Given the description of an element on the screen output the (x, y) to click on. 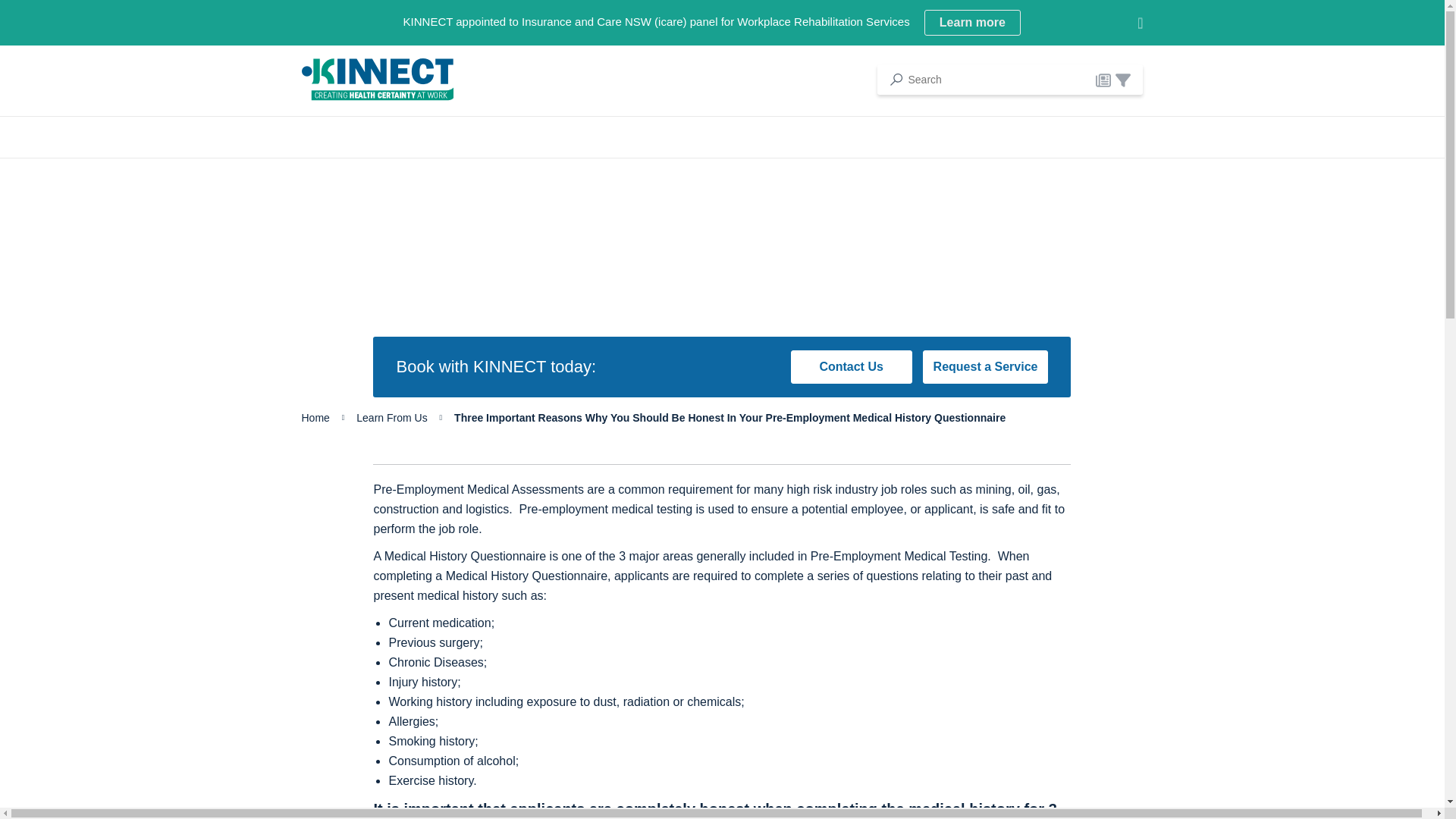
KINNECT (376, 79)
Learn more (376, 79)
service (972, 22)
post (1123, 80)
KINNECT LOGO (1103, 80)
